Given the description of an element on the screen output the (x, y) to click on. 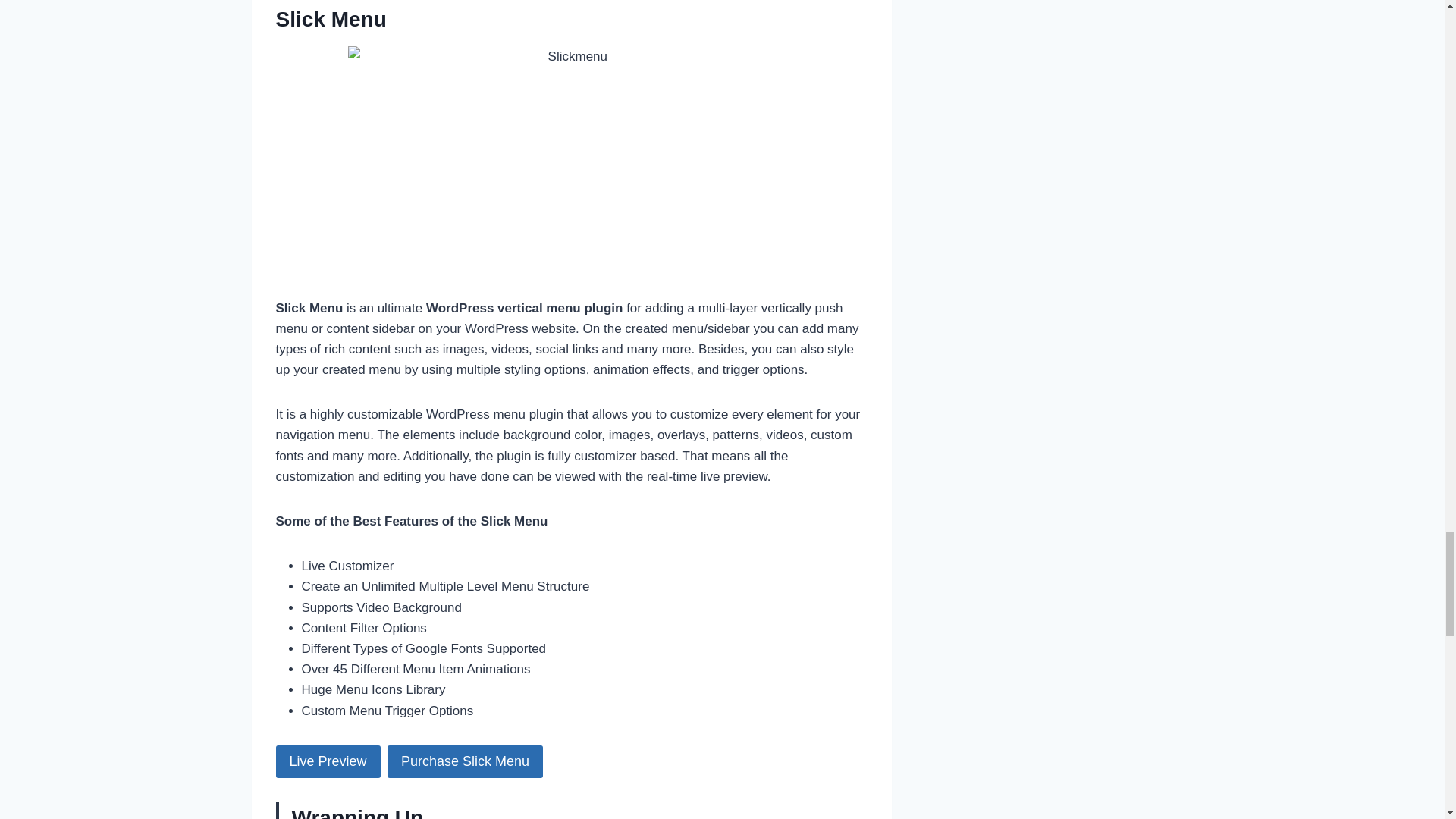
Slick Menu (331, 19)
Live Preview (328, 761)
Purchase Slick Menu (465, 761)
